Given the description of an element on the screen output the (x, y) to click on. 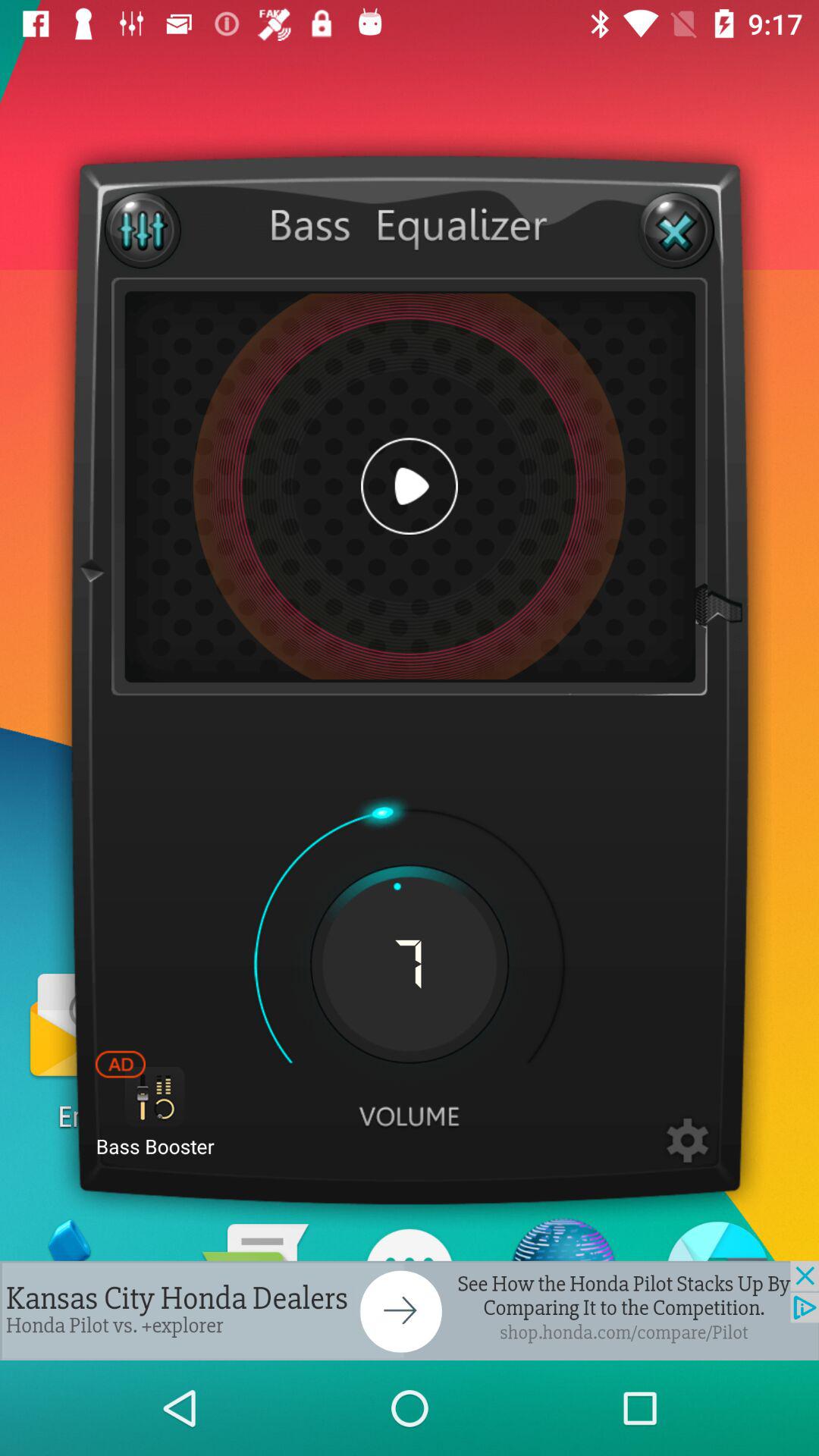
good (687, 1141)
